Given the description of an element on the screen output the (x, y) to click on. 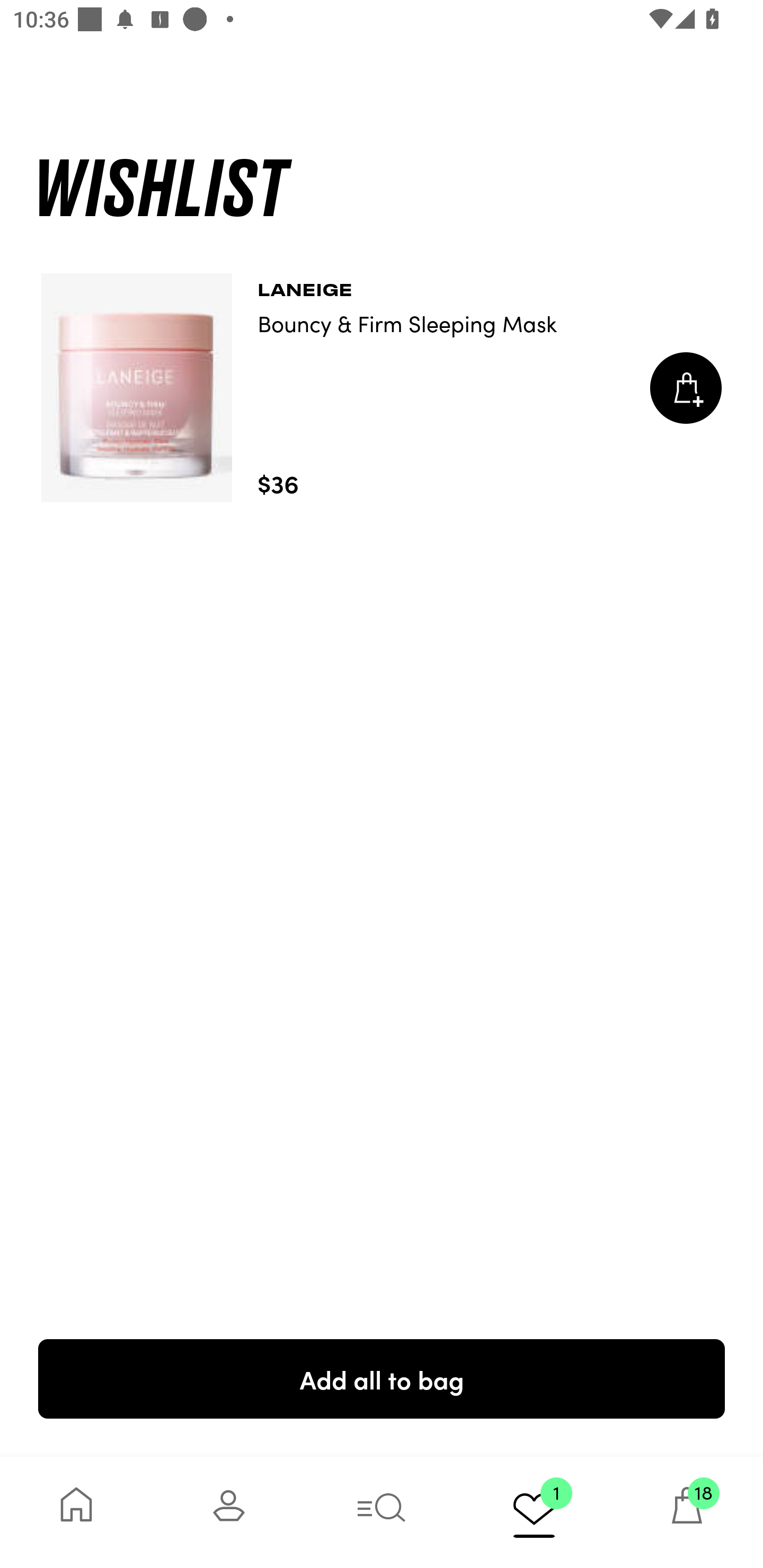
LANEIGE Bouncy & Firm Sleeping Mask $36 (381, 388)
Add all to bag (381, 1379)
1 (533, 1512)
18 (686, 1512)
